Given the description of an element on the screen output the (x, y) to click on. 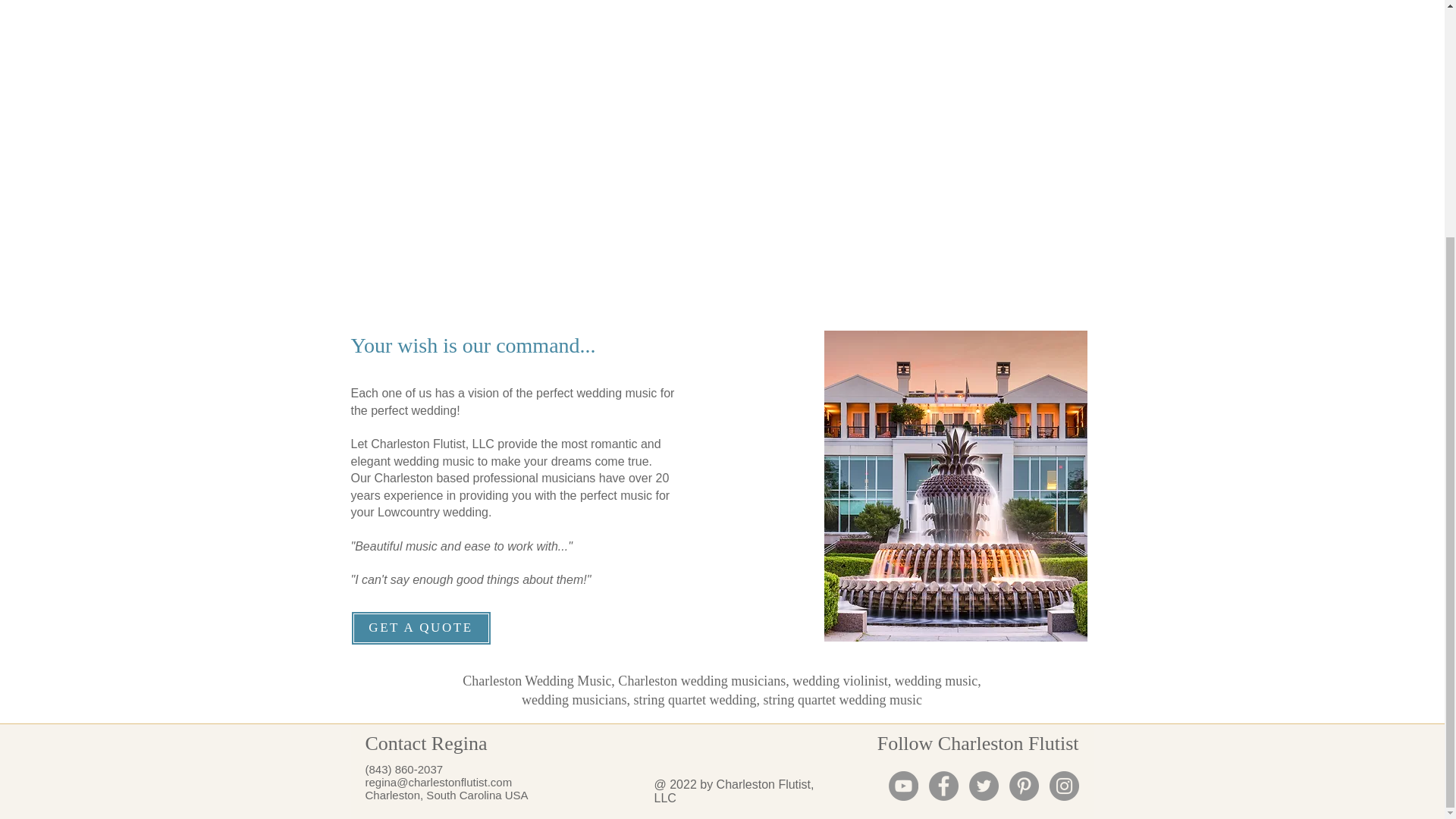
GET A QUOTE (420, 627)
